Given the description of an element on the screen output the (x, y) to click on. 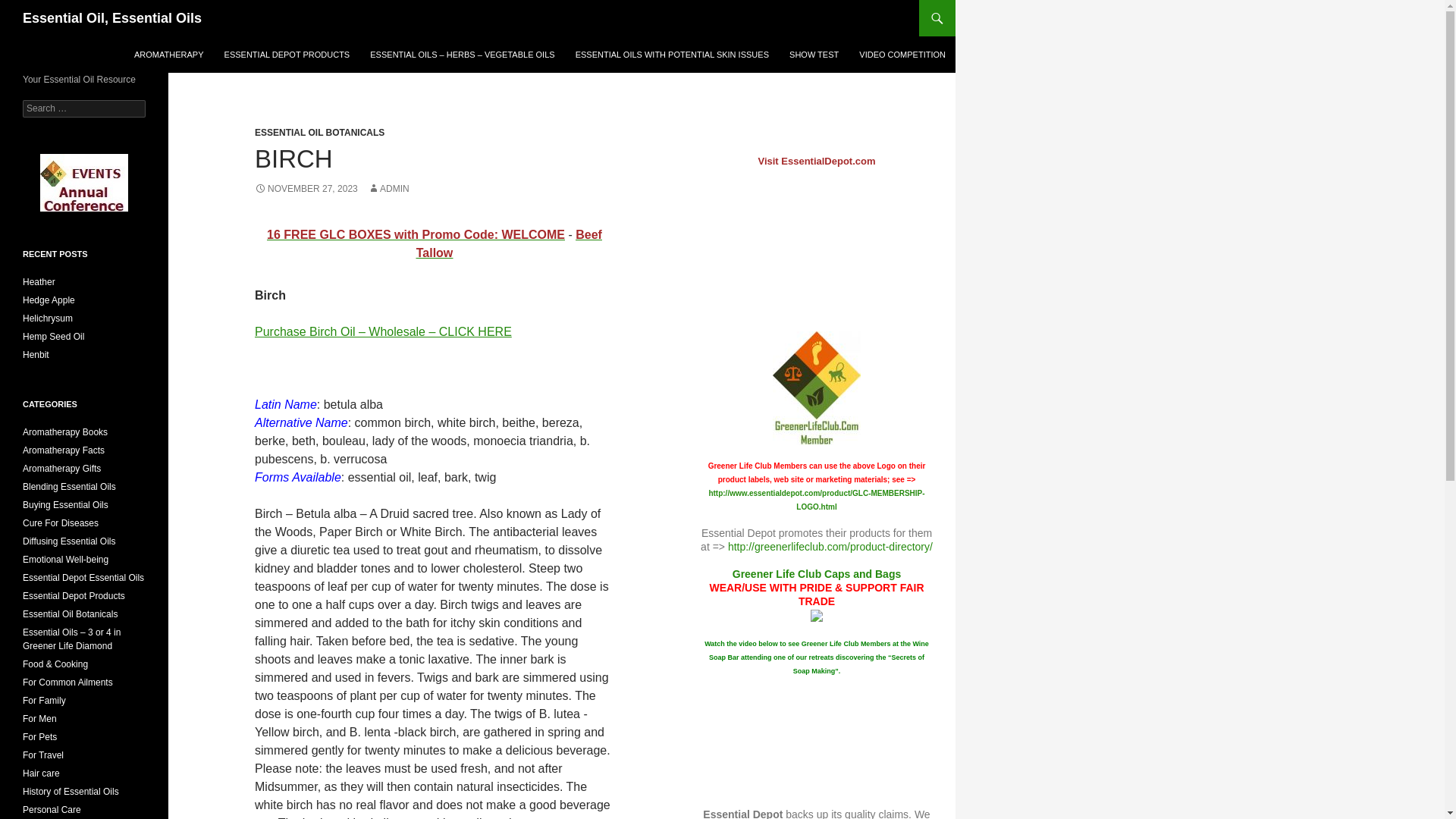
Blending Essential Oils (69, 486)
ESSENTIAL OIL BOTANICALS (319, 132)
Visit EssentialDepot.com (816, 160)
16 FREE GLC BOXES with Promo Code: WELCOME (415, 234)
VIDEO COMPETITION (902, 54)
ESSENTIAL DEPOT PRODUCTS (287, 54)
Hemp Seed Oil (53, 336)
Beef Tallow (509, 243)
SHOW TEST (813, 54)
Aromatherapy Books (65, 431)
Heather (39, 281)
ADMIN (388, 188)
Henbit (36, 354)
AROMATHERAPY (168, 54)
